Given the description of an element on the screen output the (x, y) to click on. 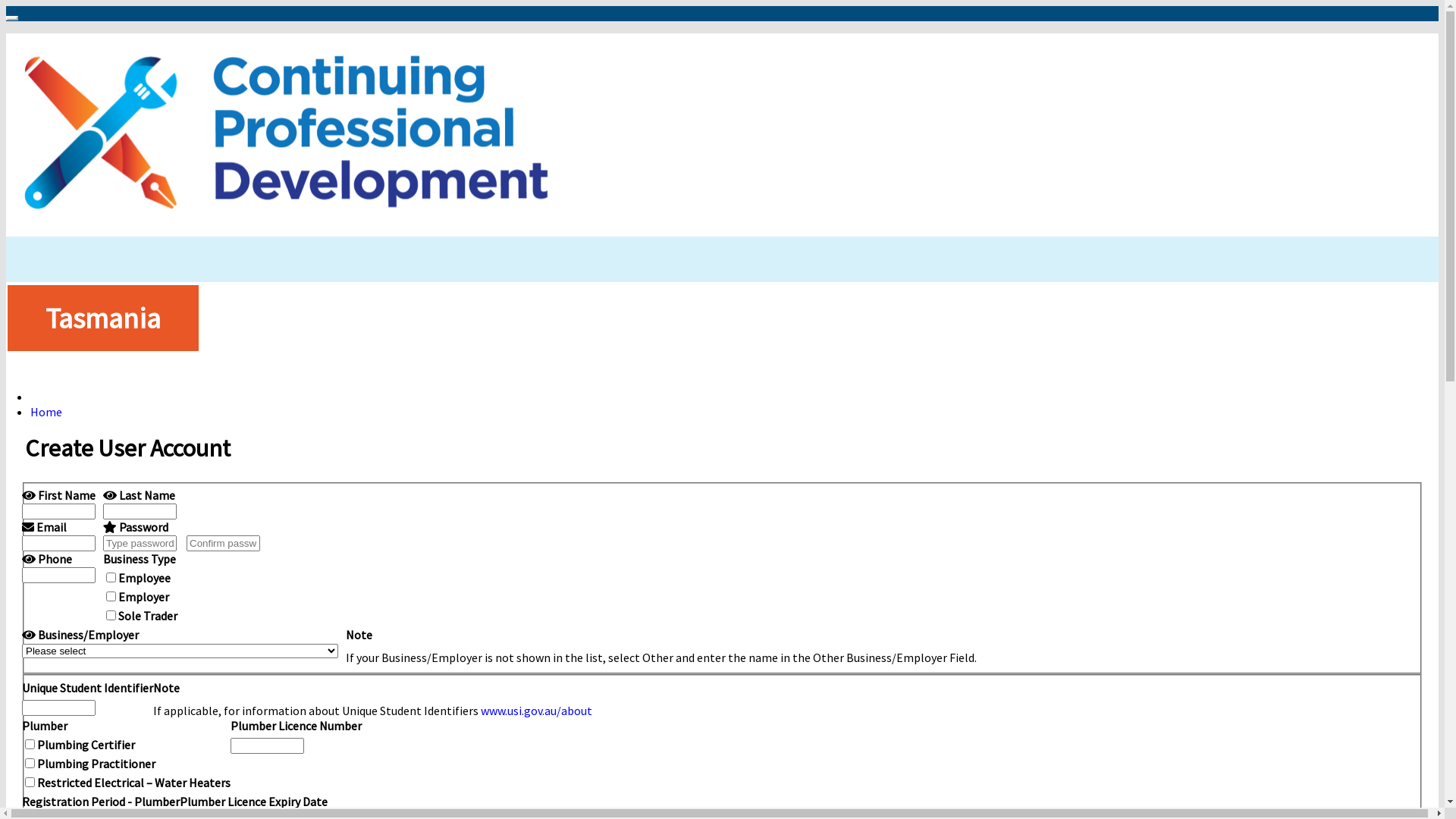
www.usi.gov.au/about Element type: text (536, 710)
Home Element type: text (46, 411)
